Given the description of an element on the screen output the (x, y) to click on. 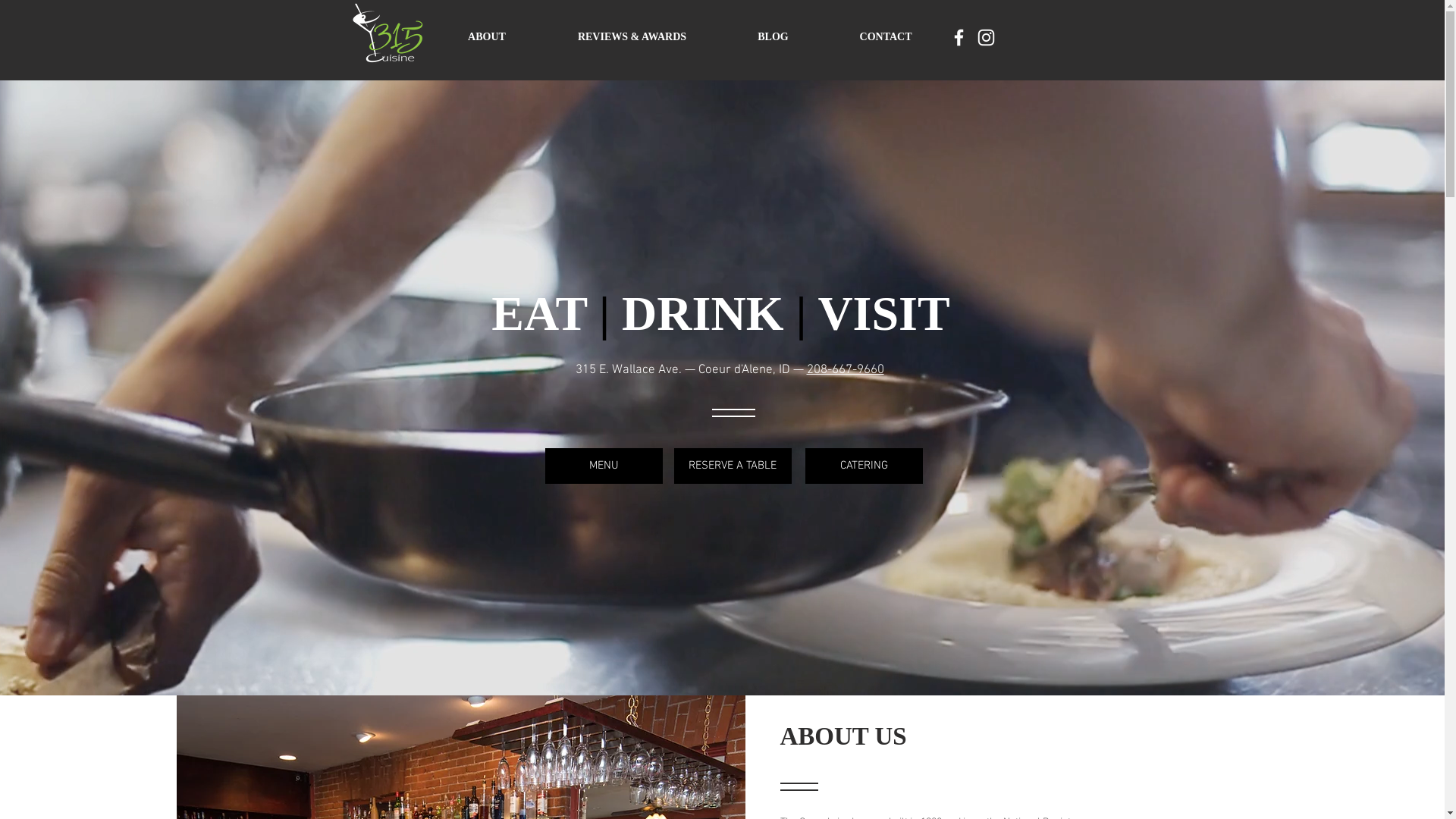
REVIEWS & AWARDS Element type: text (631, 36)
MENU Element type: text (603, 465)
315 Cuisine Element type: hover (385, 32)
ABOUT Element type: text (487, 36)
CONTACT Element type: text (885, 36)
BLOG Element type: text (772, 36)
RESERVE A TABLE Element type: text (731, 465)
CATERING Element type: text (863, 465)
208-667-9660 Element type: text (845, 369)
